Given the description of an element on the screen output the (x, y) to click on. 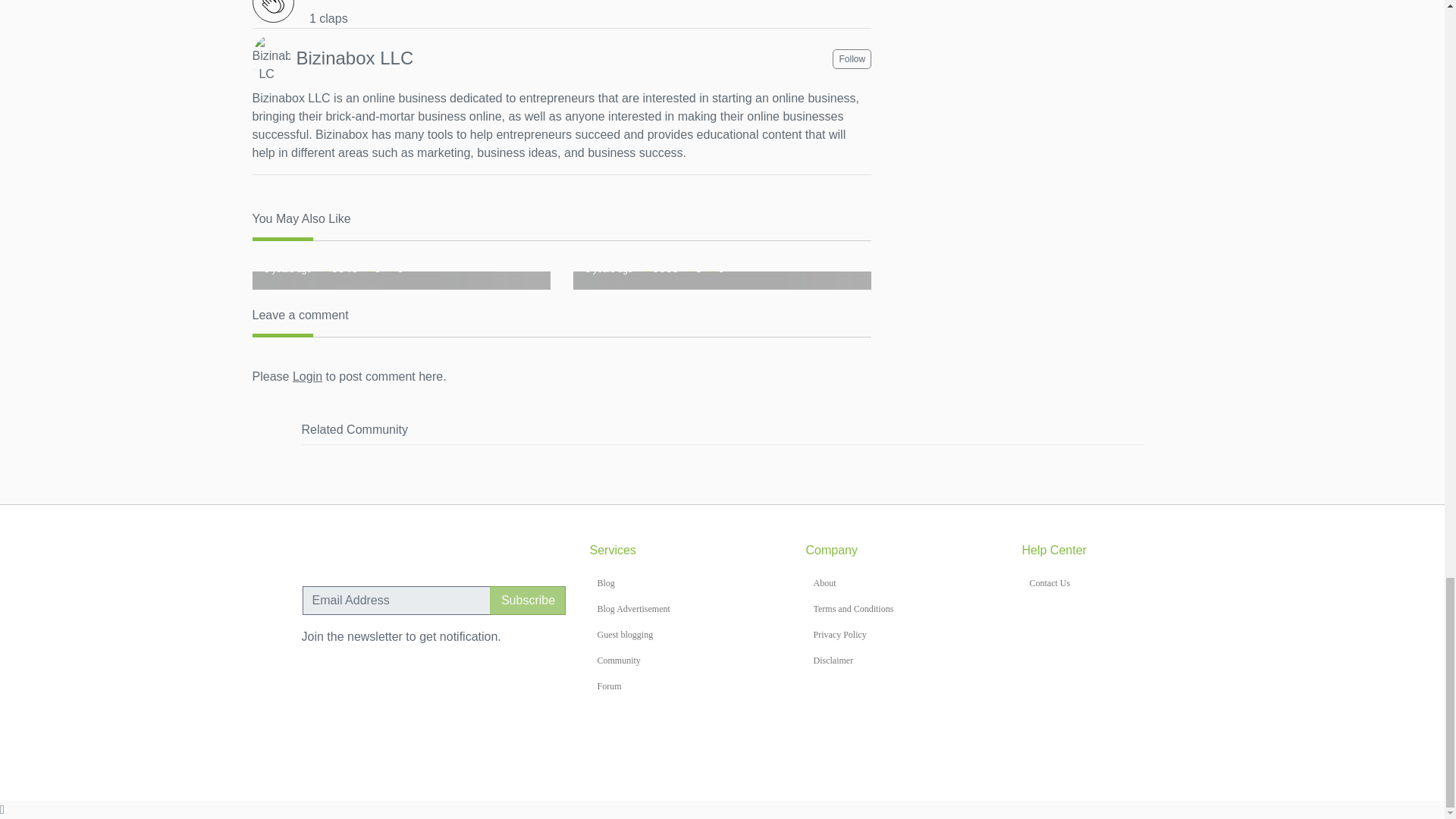
Bizinabox LLC (354, 58)
Follow (851, 58)
